Given the description of an element on the screen output the (x, y) to click on. 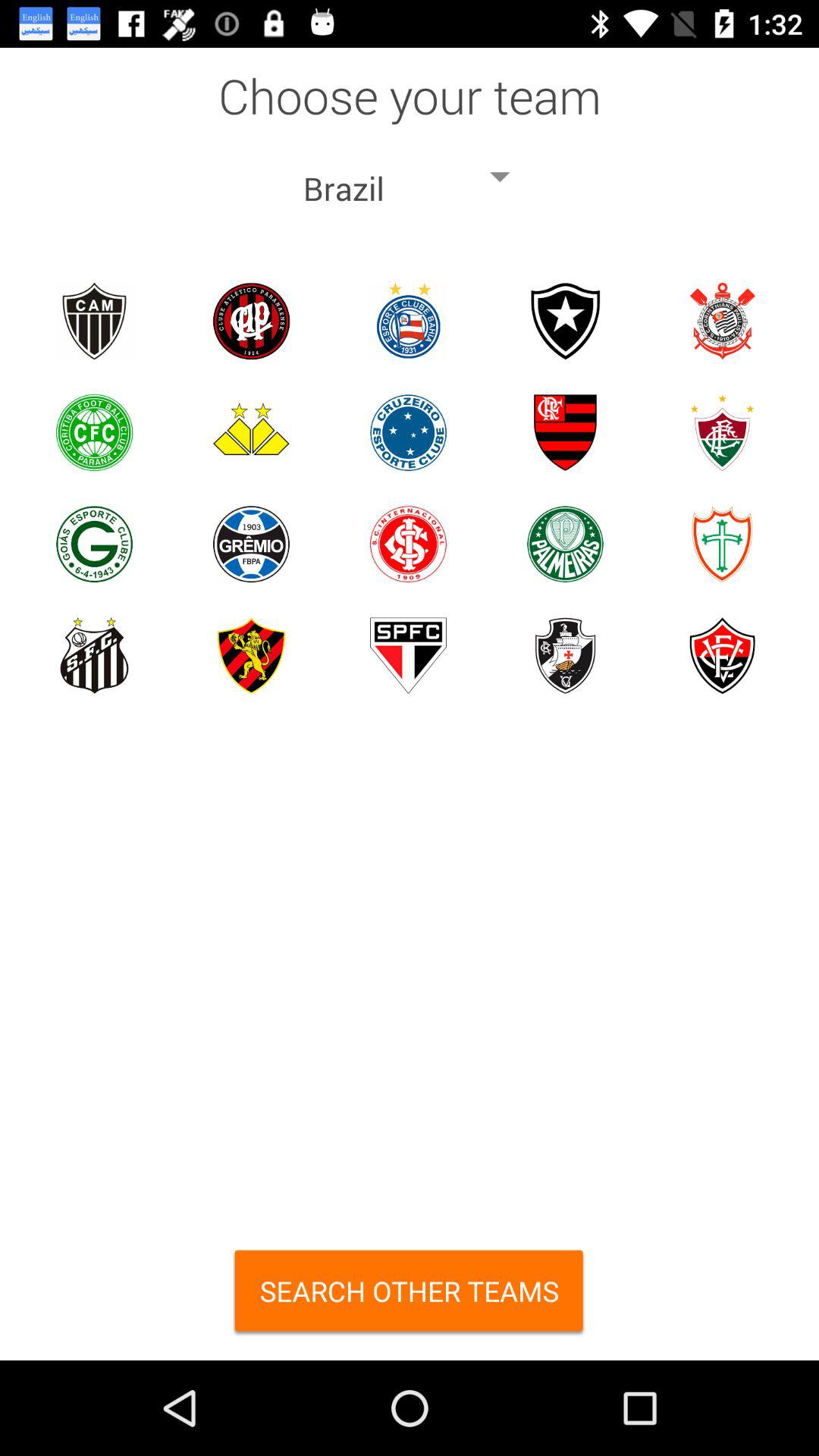
select team (565, 432)
